Given the description of an element on the screen output the (x, y) to click on. 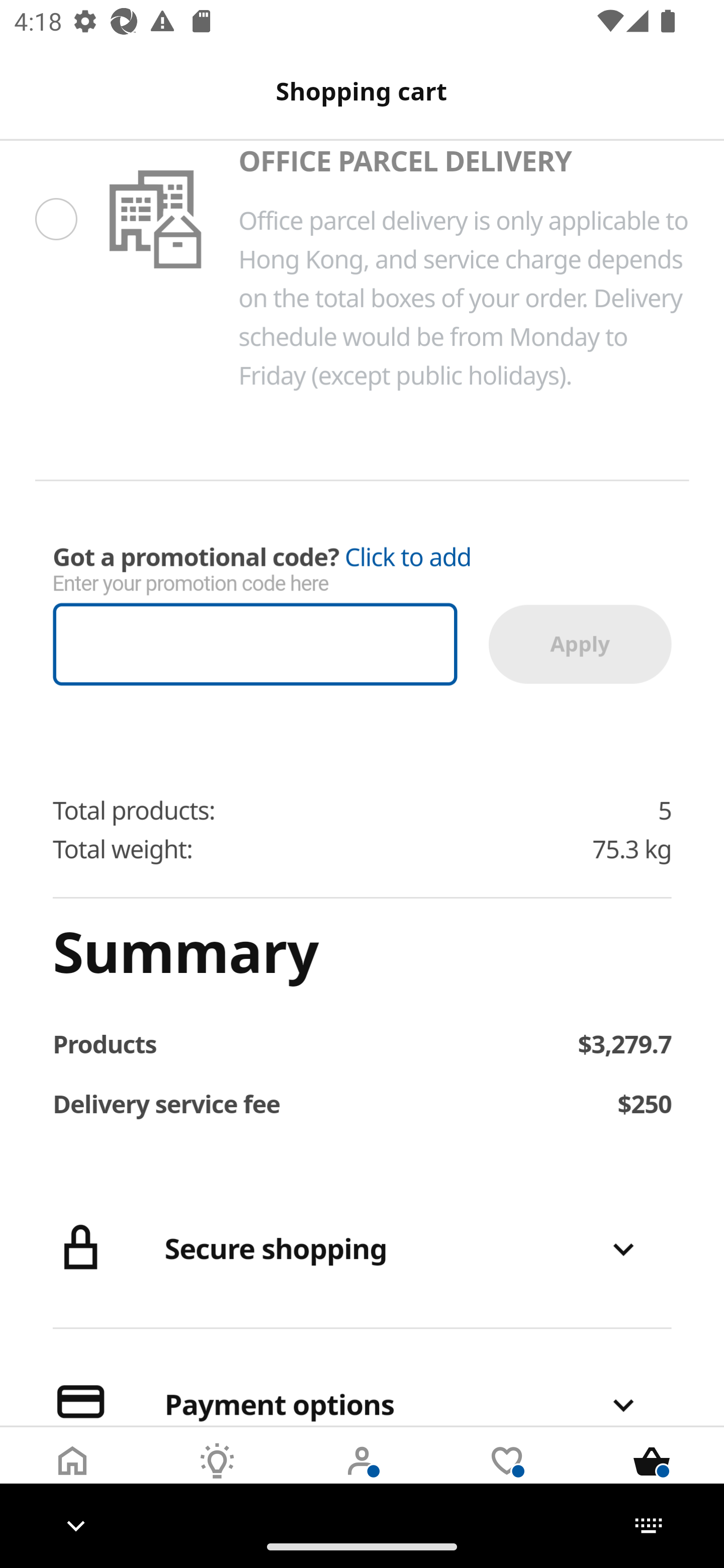
Click to add (408, 557)
Home
Tab 1 of 5 (72, 1476)
Inspirations
Tab 2 of 5 (216, 1476)
User
Tab 3 of 5 (361, 1476)
Wishlist
Tab 4 of 5 (506, 1476)
Cart
Tab 5 of 5 (651, 1476)
